Given the description of an element on the screen output the (x, y) to click on. 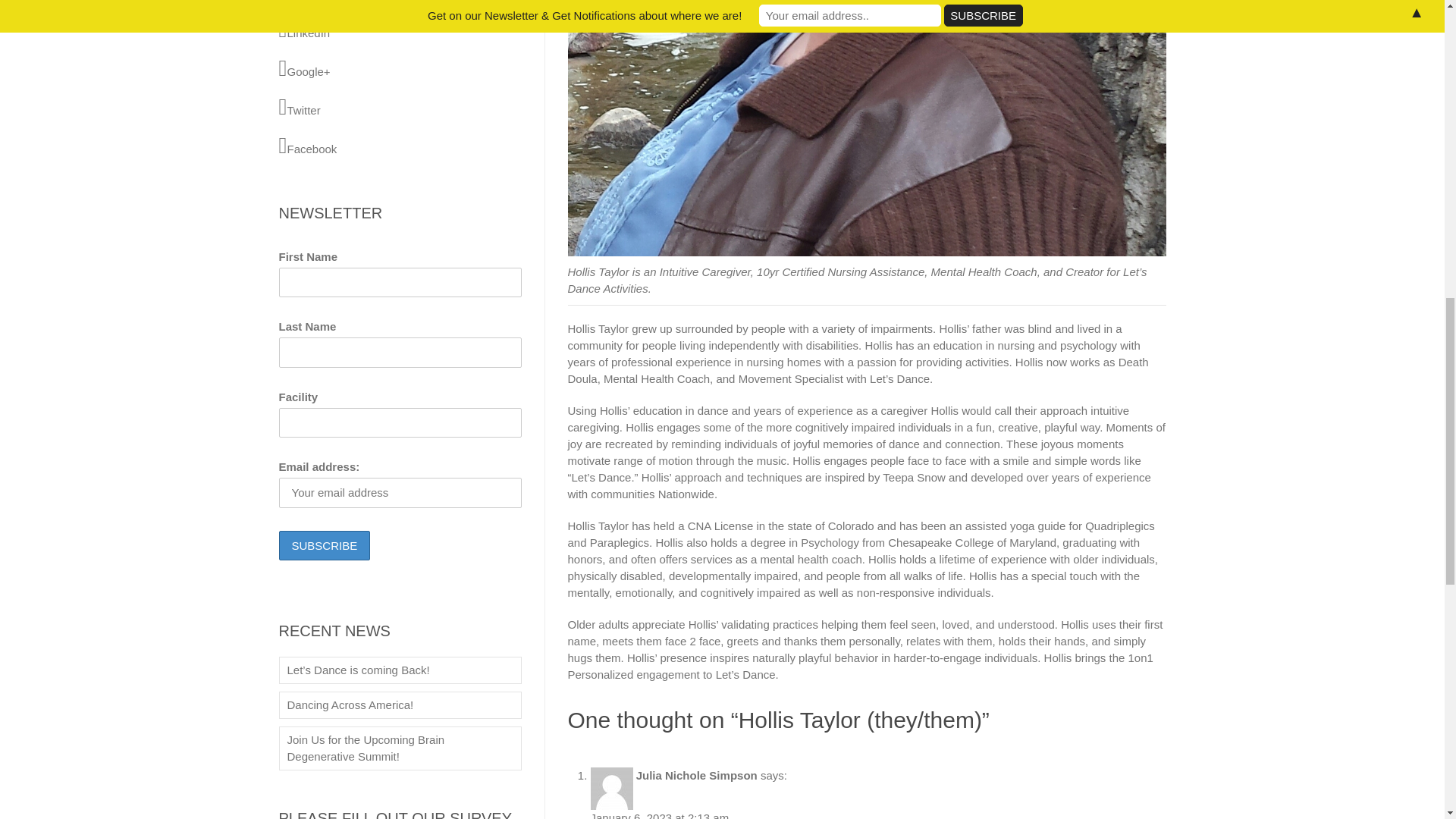
Visit Let's Dance  on Instagram (400, 1)
Subscribe (325, 545)
Visit Let's Dance  on Facebook (400, 146)
Visit Let's Dance  on Twitter (400, 106)
Visit Let's Dance  on LinkedIn (400, 29)
